Given the description of an element on the screen output the (x, y) to click on. 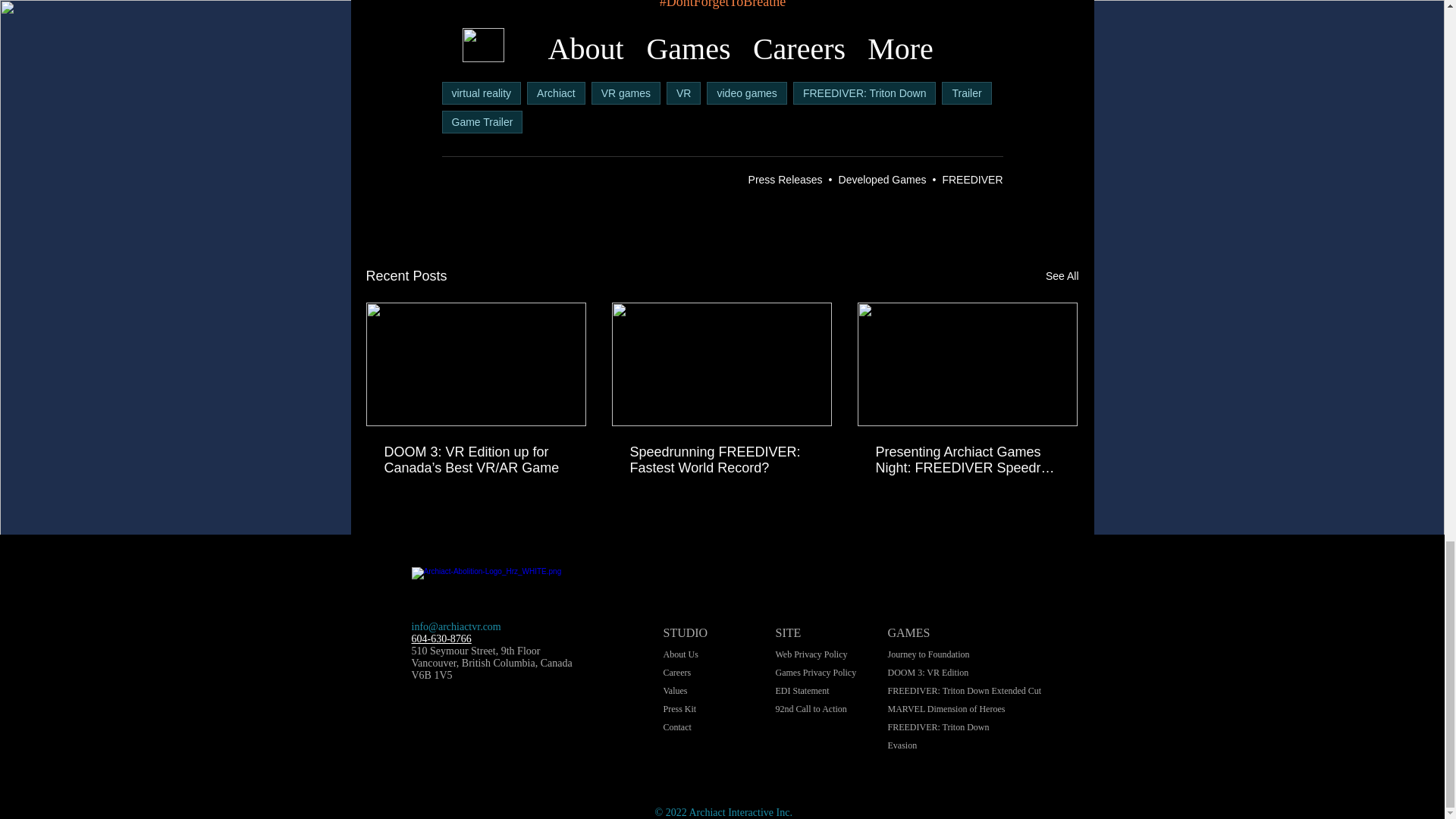
FREEDIVER (972, 179)
Trailer (966, 92)
VR games (626, 92)
Developed Games (882, 179)
Press Releases (785, 179)
See All (1061, 276)
Values (674, 690)
Careers (676, 672)
Presenting Archiact Games Night: FREEDIVER Speedrun Edition (966, 459)
Speedrunning FREEDIVER: Fastest World Record? (720, 459)
604-630-8766 (440, 638)
virtual reality (481, 92)
video games (746, 92)
VR (683, 92)
Archiact (556, 92)
